Given the description of an element on the screen output the (x, y) to click on. 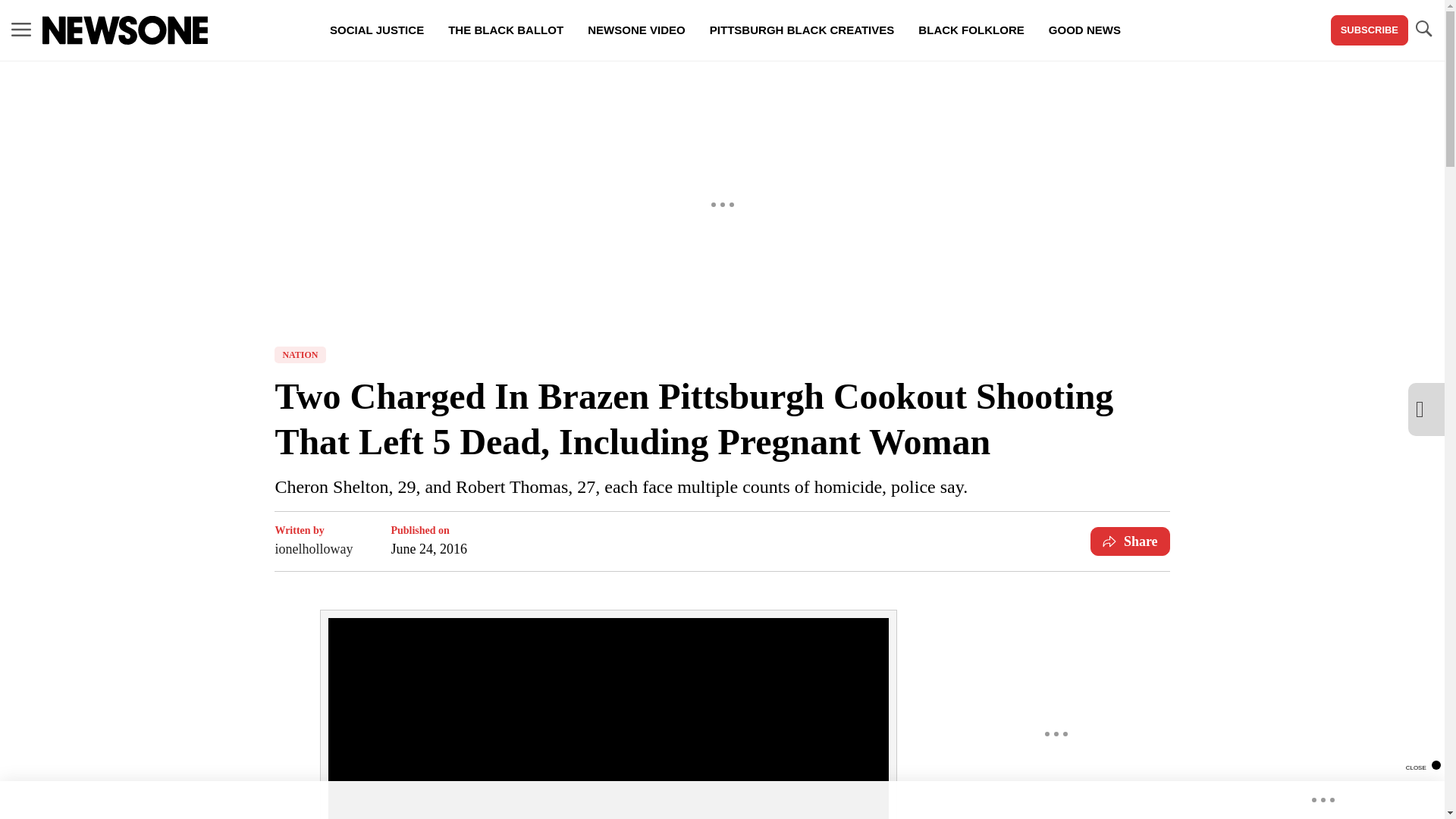
BLACK FOLKLORE (970, 30)
TOGGLE SEARCH (1422, 30)
Share (1130, 541)
ionelholloway (313, 548)
TOGGLE SEARCH (1422, 28)
PITTSBURGH BLACK CREATIVES (802, 30)
MENU (20, 30)
SUBSCRIBE (1368, 30)
SOCIAL JUSTICE (376, 30)
NATION (299, 354)
